Given the description of an element on the screen output the (x, y) to click on. 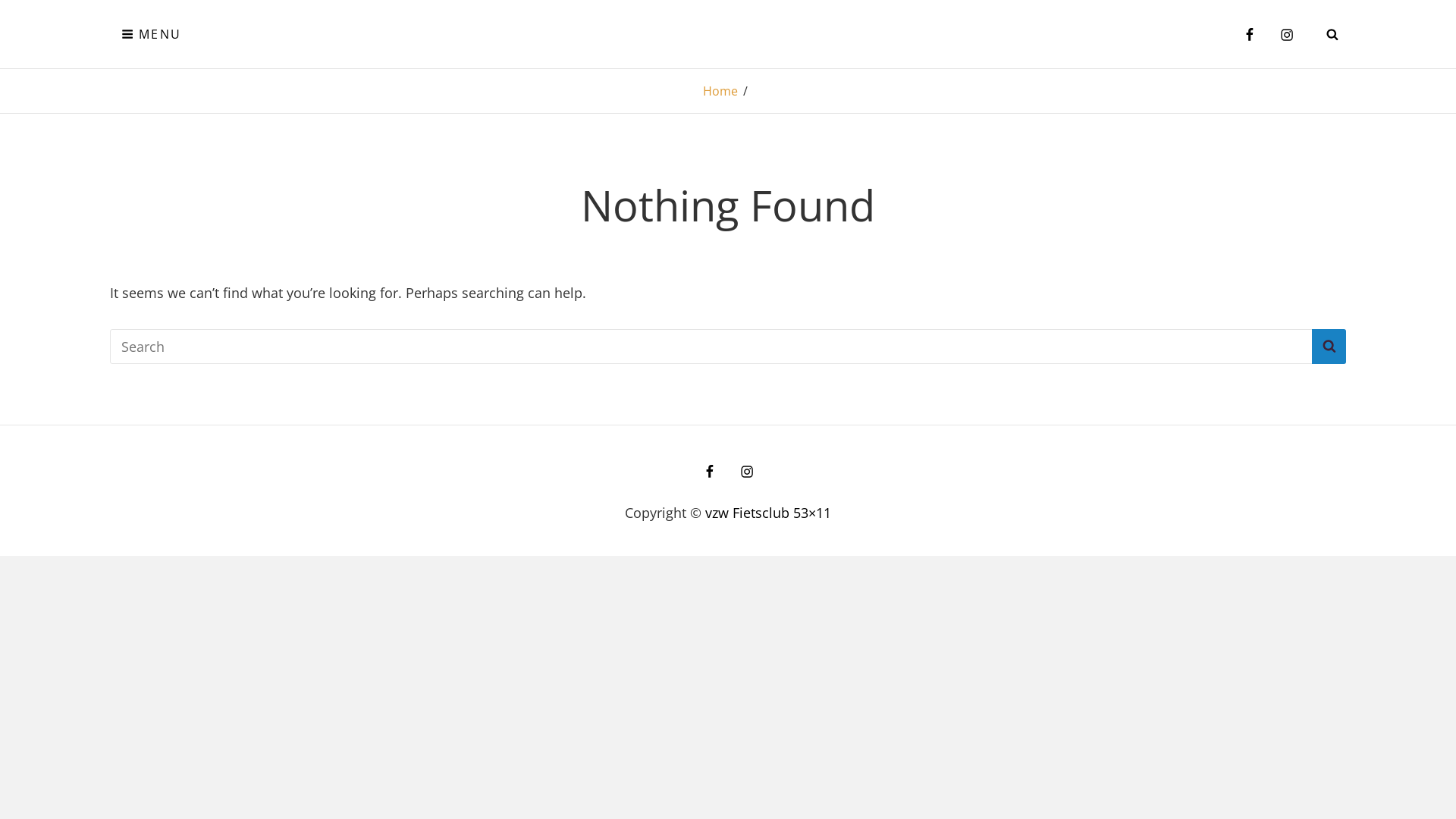
MENU Element type: text (151, 33)
SEARCH Element type: text (1332, 33)
Home Element type: text (719, 90)
follow us Element type: text (1286, 33)
SEARCH Element type: text (1328, 346)
follow us Element type: text (745, 470)
